Given the description of an element on the screen output the (x, y) to click on. 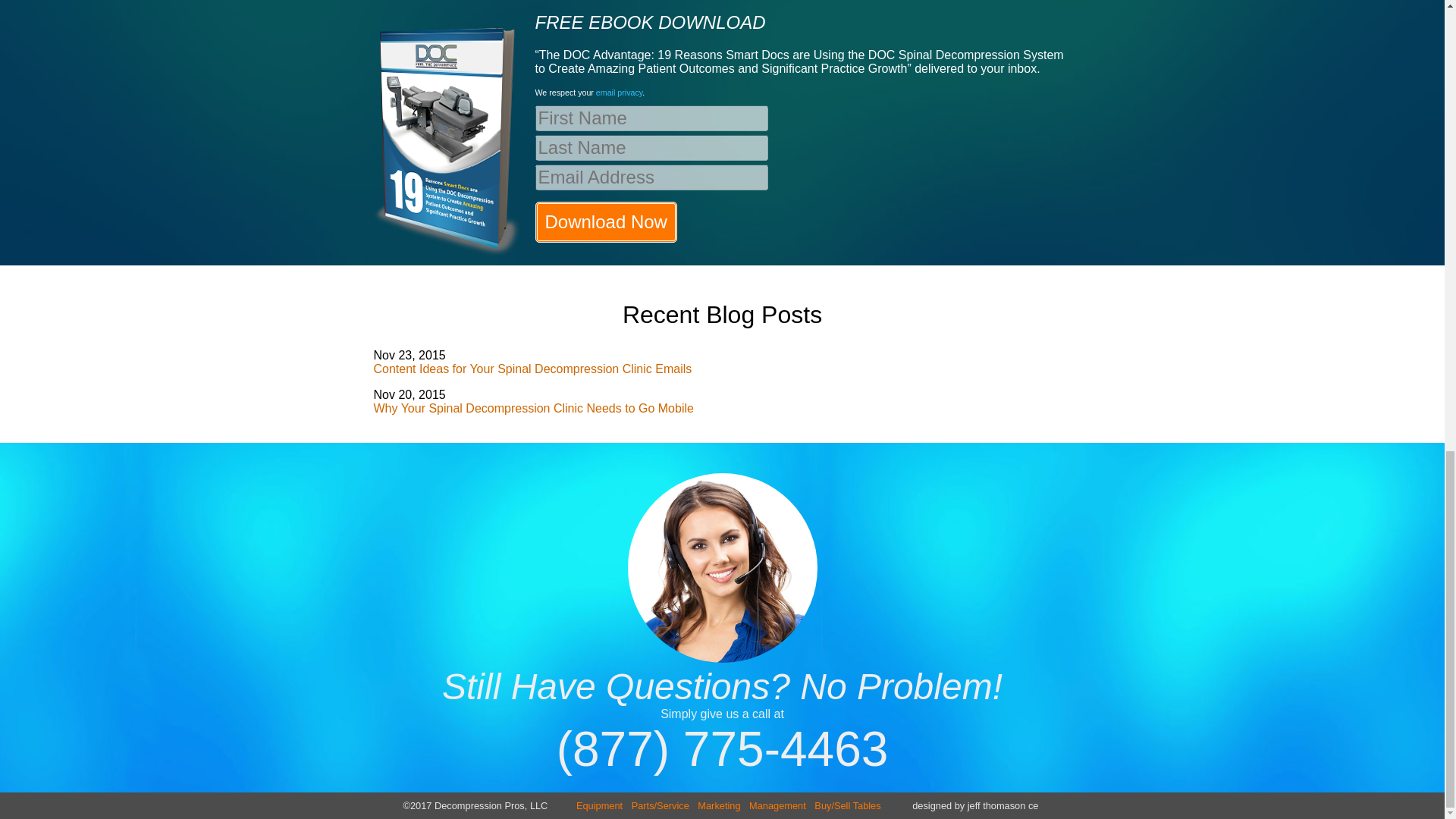
Marketing (718, 805)
Why Your Spinal Decompression Clinic Needs to Go Mobile (532, 408)
Privacy Policy (618, 92)
Management (777, 805)
Equipment (599, 805)
Download Now (606, 221)
Content Ideas for Your Spinal Decompression Clinic Emails (531, 368)
Download Now (606, 221)
email privacy (618, 92)
